Given the description of an element on the screen output the (x, y) to click on. 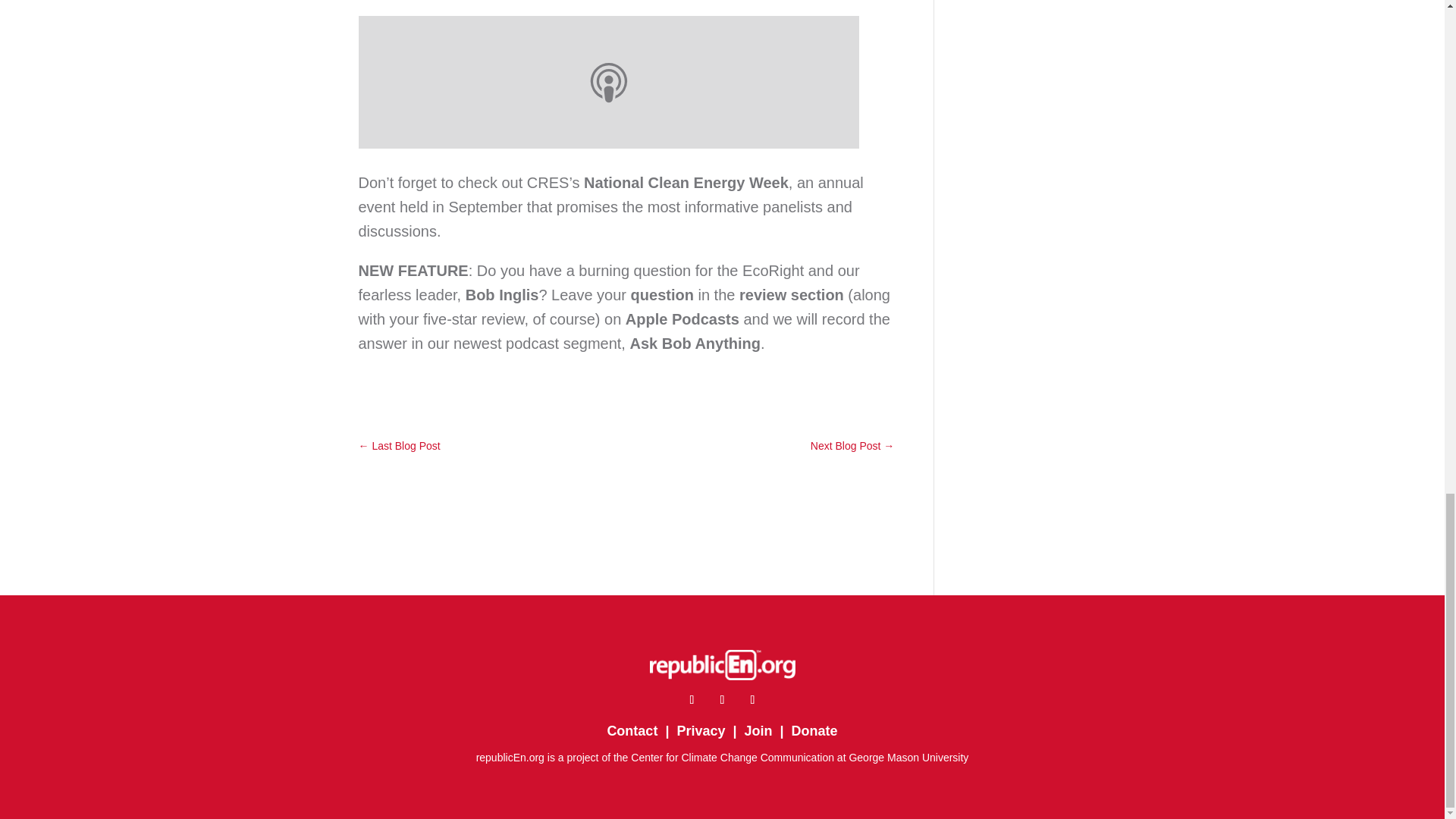
Follow on Facebook (691, 699)
Follow on Twitter (721, 699)
Follow on Instagram (751, 699)
